Given the description of an element on the screen output the (x, y) to click on. 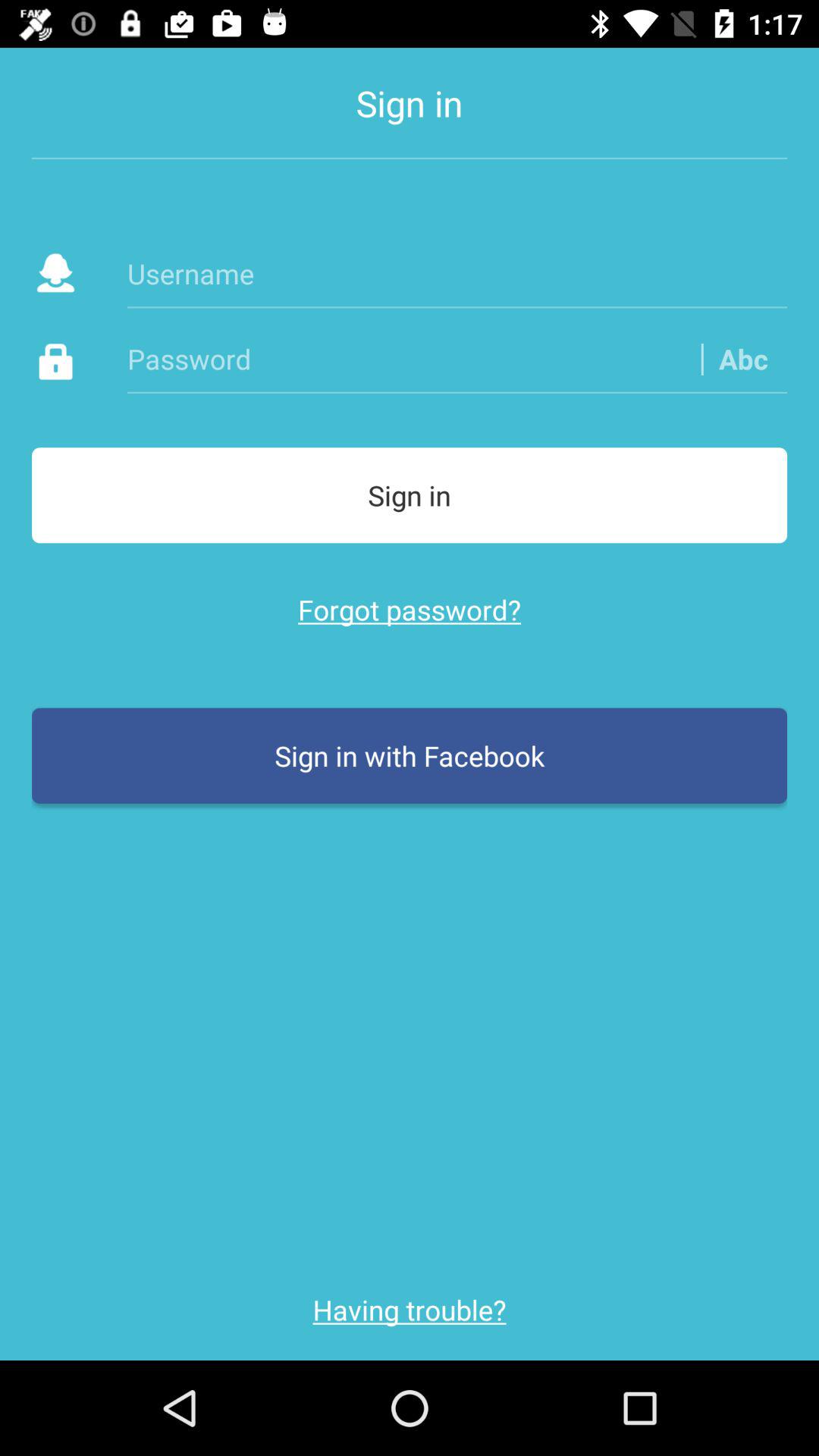
turn on having trouble? icon (409, 1309)
